Given the description of an element on the screen output the (x, y) to click on. 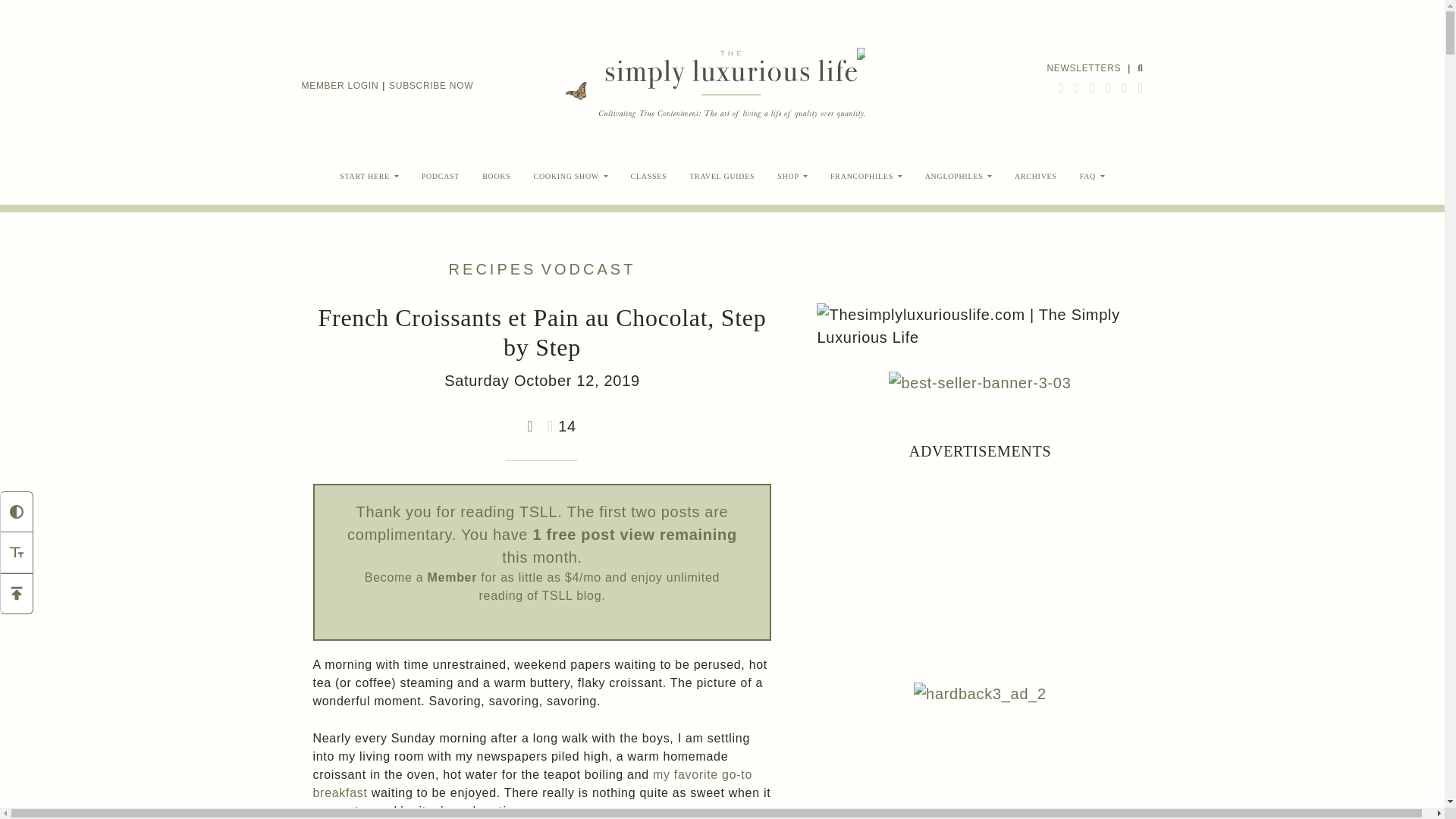
PODCAST (440, 176)
START HERE (369, 176)
NEWSLETTERS (1083, 67)
TRAVEL GUIDES (721, 176)
MEMBER LOGIN (339, 85)
BOOKS (495, 176)
SUBSCRIBE NOW (430, 85)
SHOP (791, 176)
COOKING SHOW (571, 176)
Back to The Simply Luxurious Life Home Page (728, 85)
